Given the description of an element on the screen output the (x, y) to click on. 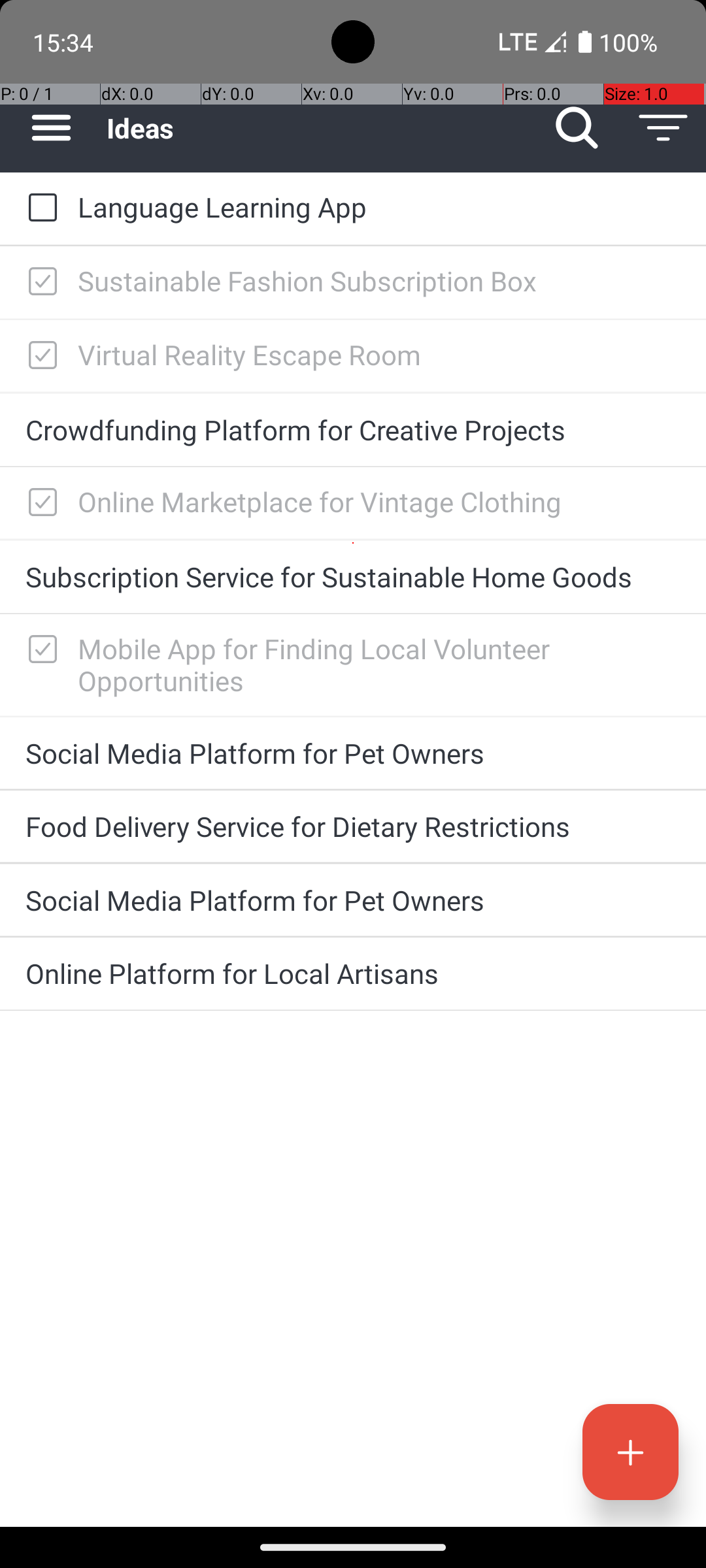
to-do: Language Learning App Element type: android.widget.CheckBox (38, 208)
Language Learning App Element type: android.widget.TextView (378, 206)
to-do: Sustainable Fashion Subscription Box Element type: android.widget.CheckBox (38, 282)
Sustainable Fashion Subscription Box Element type: android.widget.TextView (378, 280)
to-do: Virtual Reality Escape Room Element type: android.widget.CheckBox (38, 356)
Virtual Reality Escape Room Element type: android.widget.TextView (378, 354)
Crowdfunding Platform for Creative Projects Element type: android.widget.TextView (352, 429)
Subscription Service for Sustainable Home Goods Element type: android.widget.TextView (352, 576)
to-do: Mobile App for Finding Local Volunteer Opportunities Element type: android.widget.CheckBox (38, 650)
Mobile App for Finding Local Volunteer Opportunities Element type: android.widget.TextView (378, 664)
Social Media Platform for Pet Owners Element type: android.widget.TextView (352, 752)
Food Delivery Service for Dietary Restrictions Element type: android.widget.TextView (352, 825)
Online Platform for Local Artisans Element type: android.widget.TextView (352, 972)
